Given the description of an element on the screen output the (x, y) to click on. 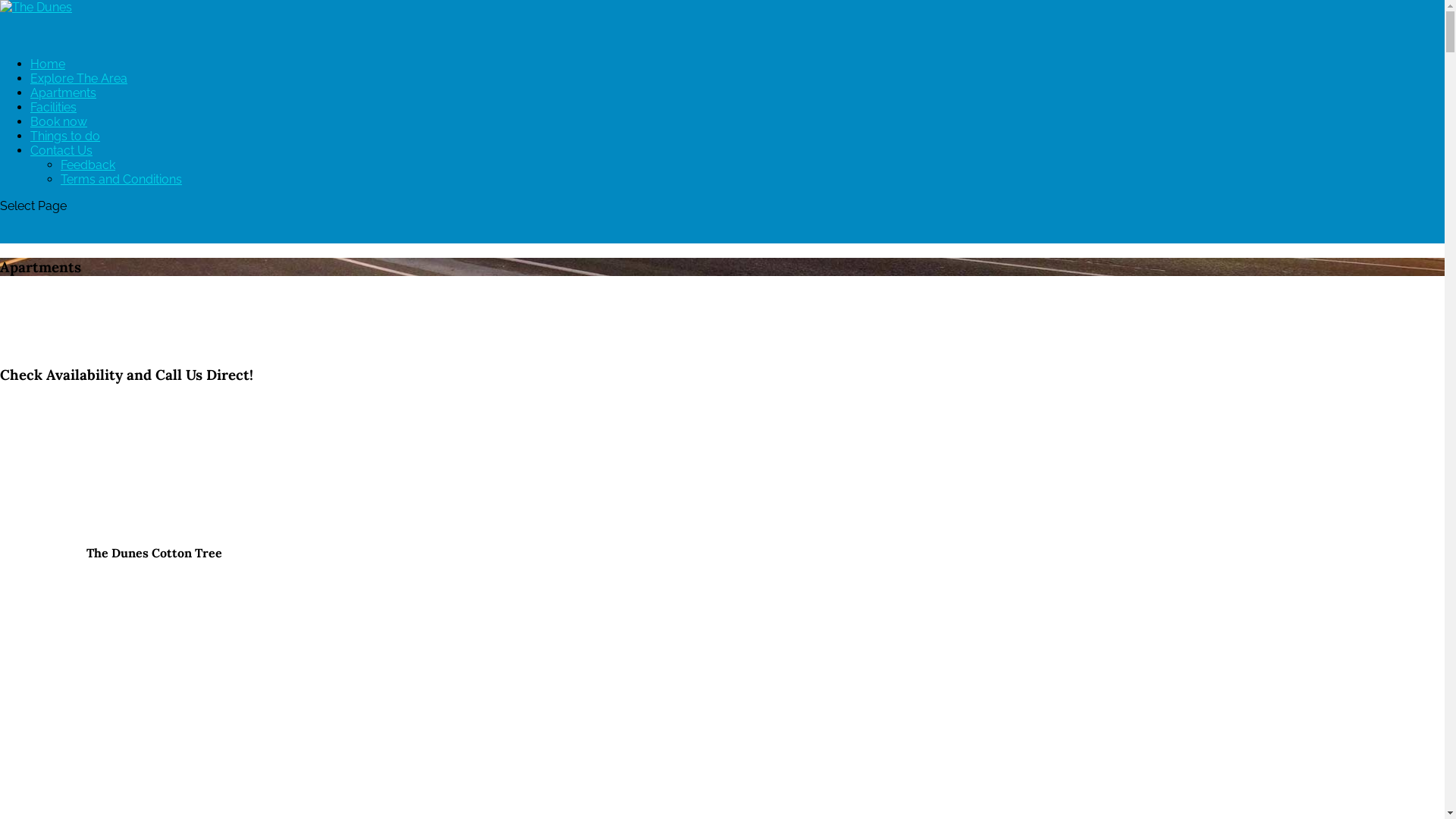
Feedback Element type: text (87, 164)
Explore The Area Element type: text (78, 93)
Contact Us Element type: text (61, 165)
Terms and Conditions Element type: text (121, 179)
Book now Element type: text (58, 136)
Facilities Element type: text (53, 122)
Home Element type: text (47, 78)
Things to do Element type: text (65, 150)
Apartments Element type: text (63, 107)
